Given the description of an element on the screen output the (x, y) to click on. 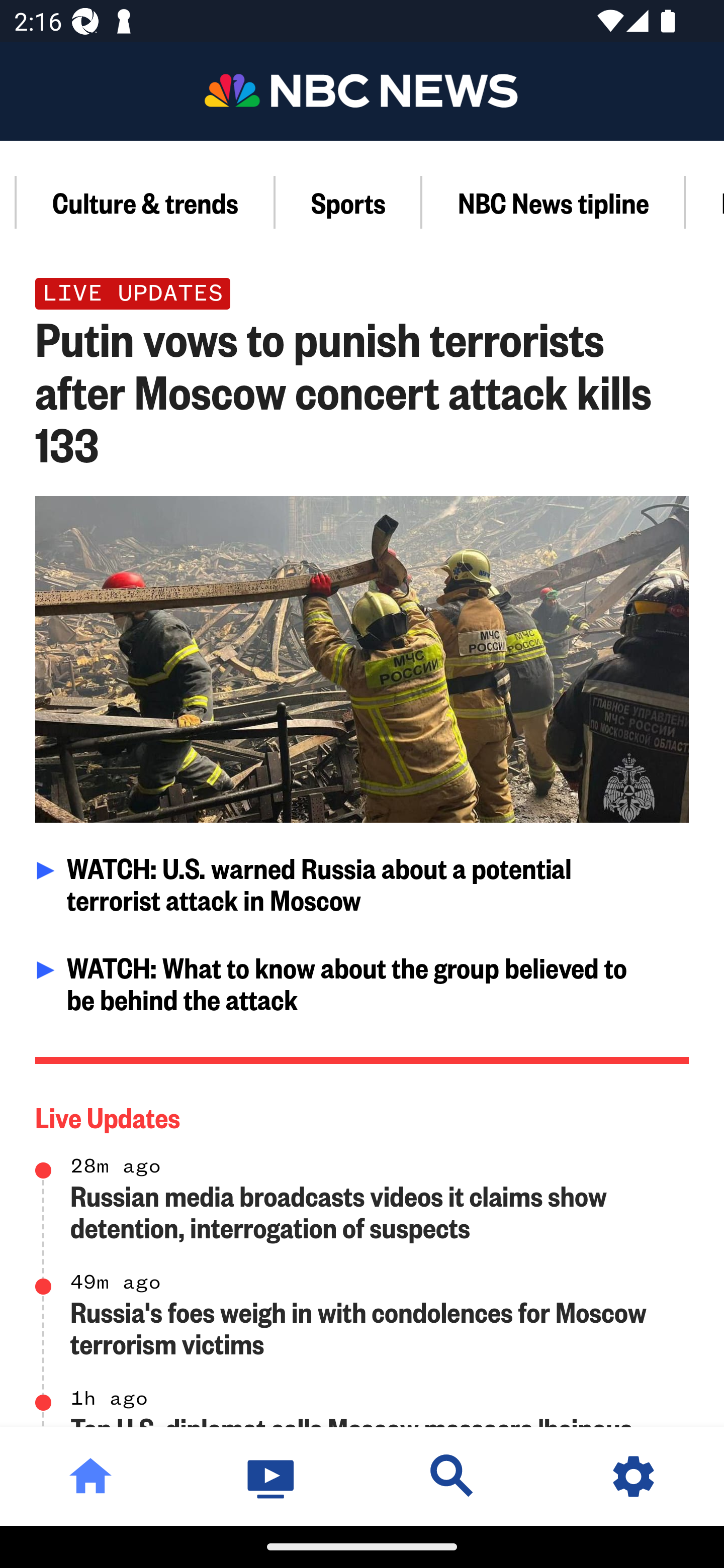
Culture & trends Section,Culture & trends (145, 202)
Sports Section,Sports (348, 202)
NBC News tipline (553, 202)
Live Updates (363, 1113)
Watch (271, 1475)
Discover (452, 1475)
Settings (633, 1475)
